Given the description of an element on the screen output the (x, y) to click on. 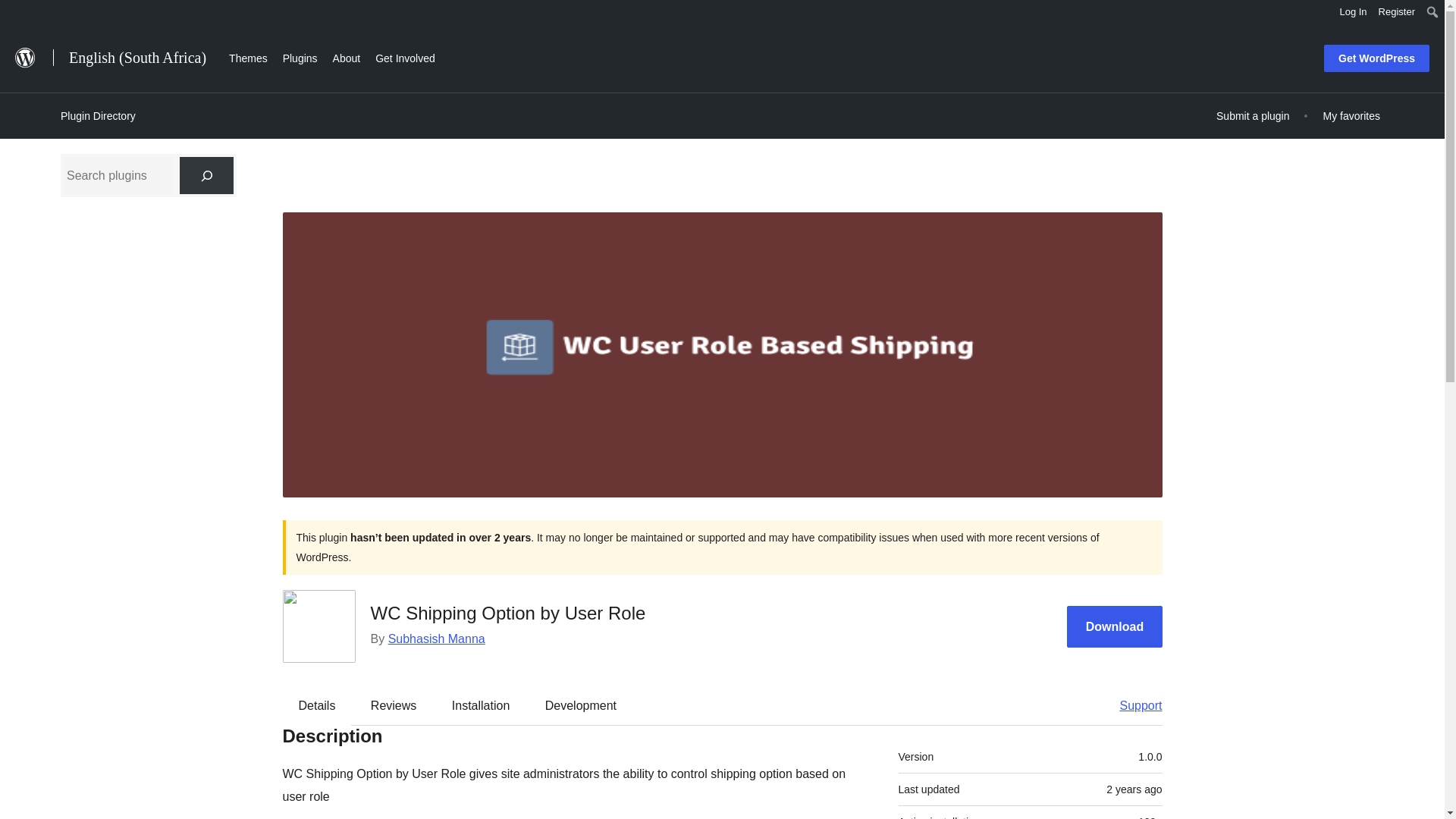
Details (316, 704)
Log In (1353, 12)
My favorites (1351, 115)
Search (16, 13)
Submit a plugin (1253, 115)
Subhasish Manna (436, 638)
Get Involved (405, 56)
Development (580, 704)
Get WordPress (1376, 58)
Register (1397, 12)
Installation (480, 704)
Plugin Directory (97, 116)
Support (1132, 704)
Reviews (392, 704)
Download (1114, 626)
